Given the description of an element on the screen output the (x, y) to click on. 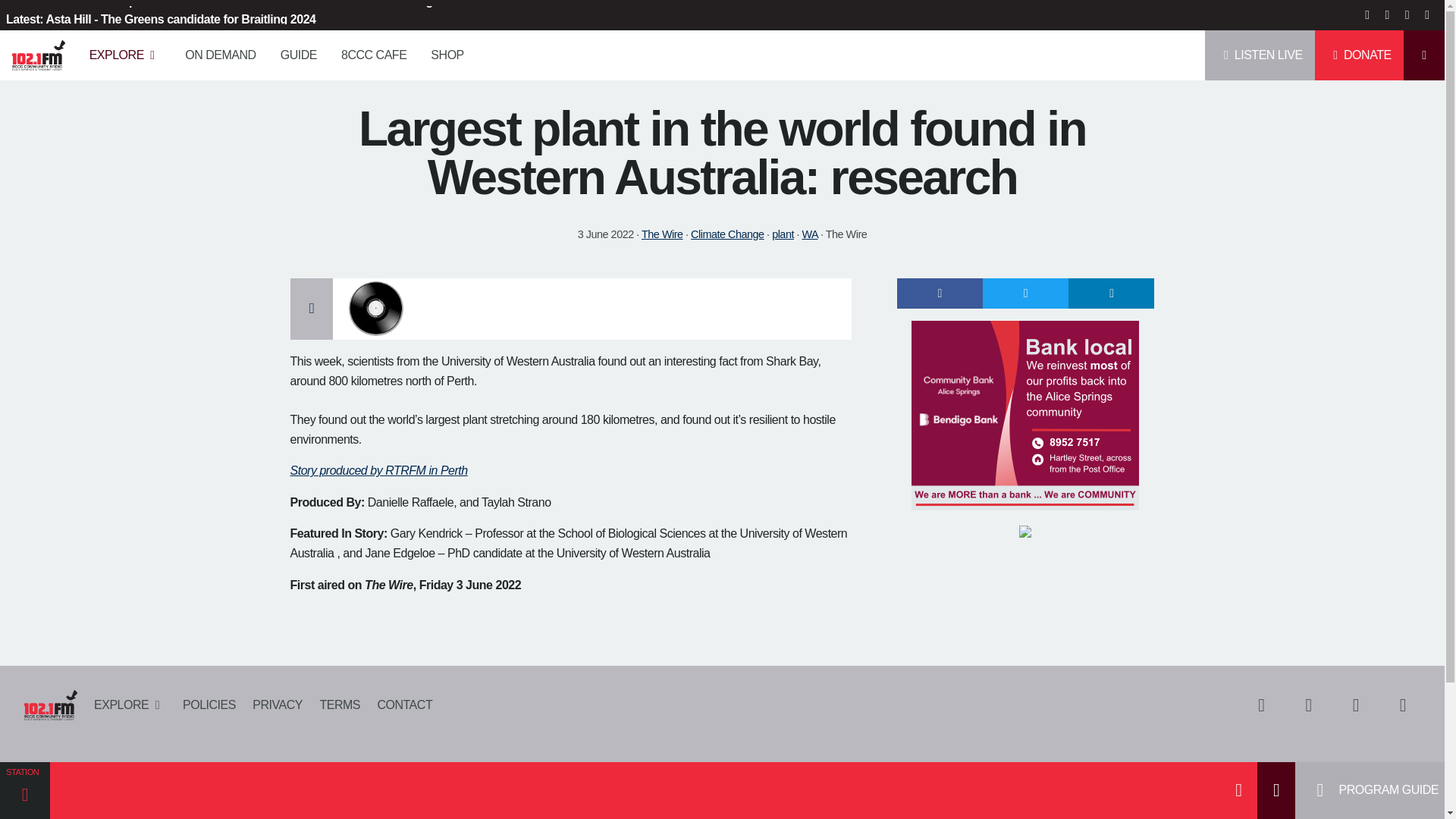
EXPLORE (125, 55)
8CCC CAFE (374, 55)
DONATE (1358, 55)
GUIDE (298, 55)
LISTEN LIVE (1259, 55)
SHOP (447, 55)
